Given the description of an element on the screen output the (x, y) to click on. 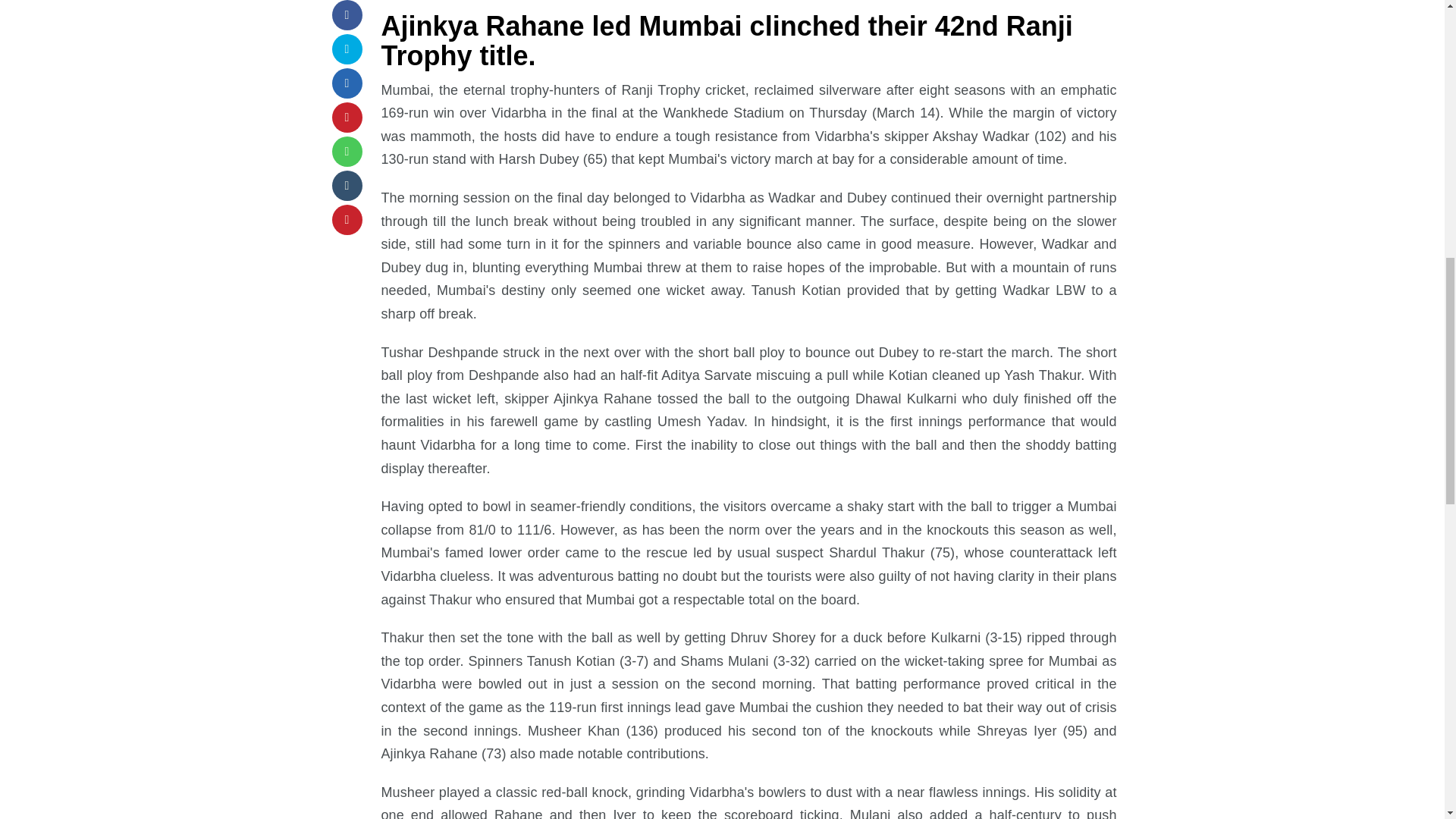
Click to Print (346, 219)
